Given the description of an element on the screen output the (x, y) to click on. 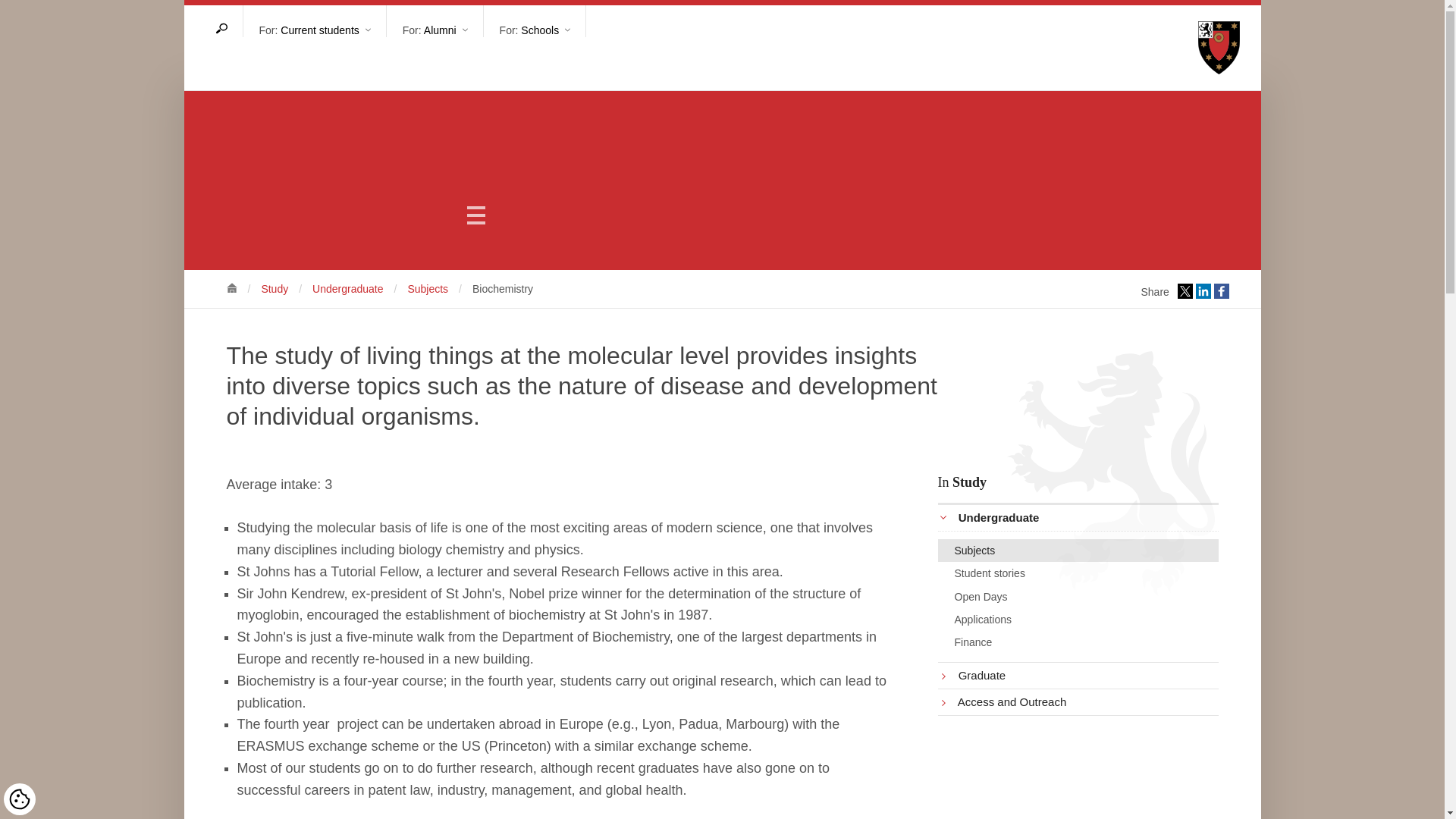
Study (274, 288)
Skip to page content (783, 2)
Undergraduate (347, 288)
St John's College, Oxford (230, 286)
Subjects (427, 288)
For: Schools (534, 20)
For: Current students (314, 20)
For: Alumni (435, 20)
